Given the description of an element on the screen output the (x, y) to click on. 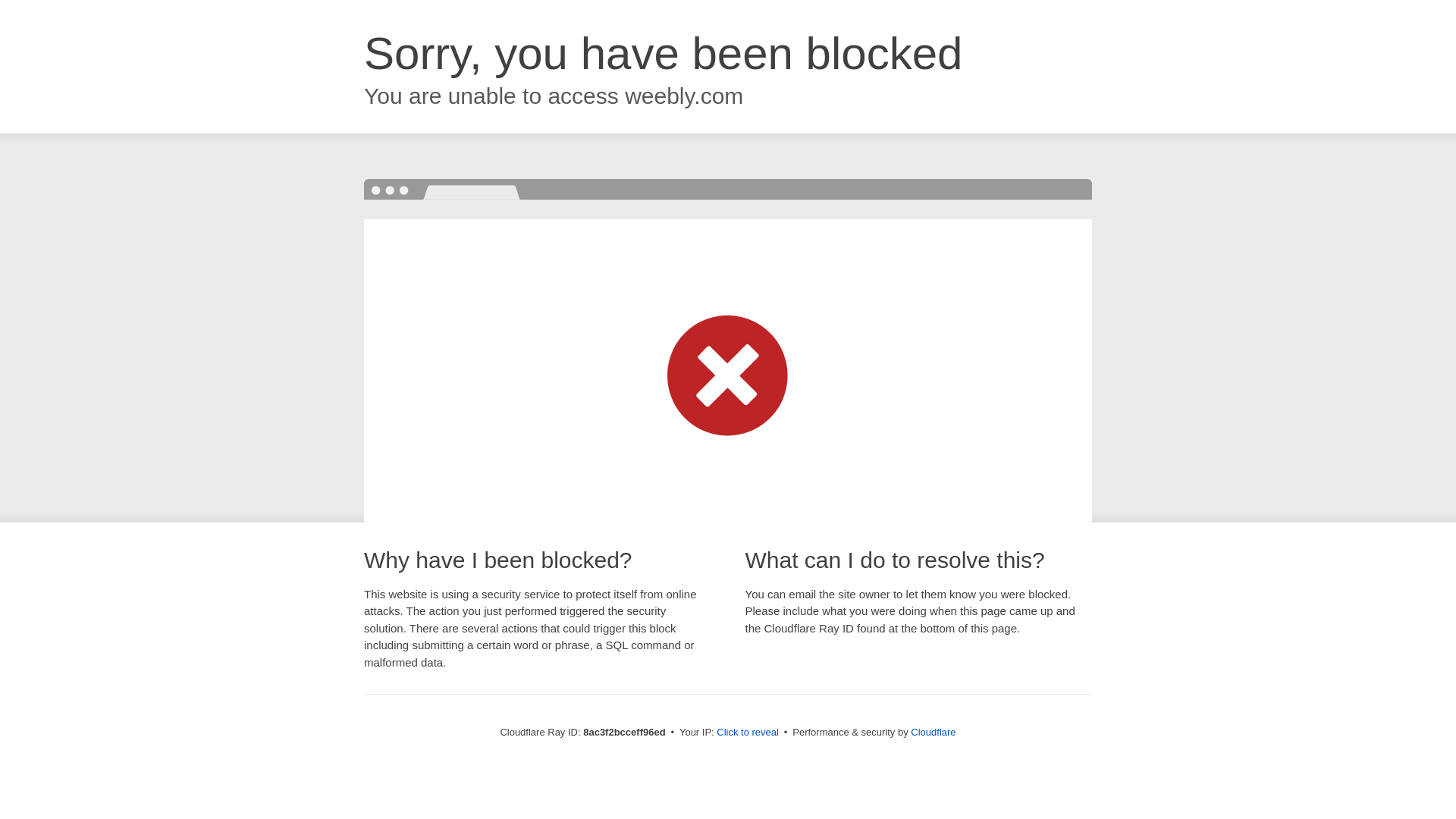
Click to reveal (747, 732)
Cloudflare (933, 731)
